Given the description of an element on the screen output the (x, y) to click on. 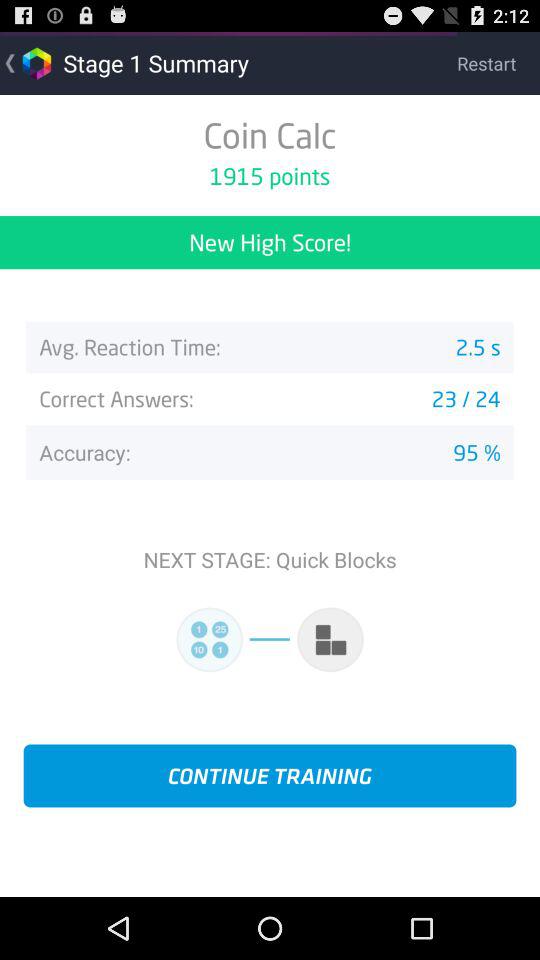
flip to restart icon (498, 62)
